Given the description of an element on the screen output the (x, y) to click on. 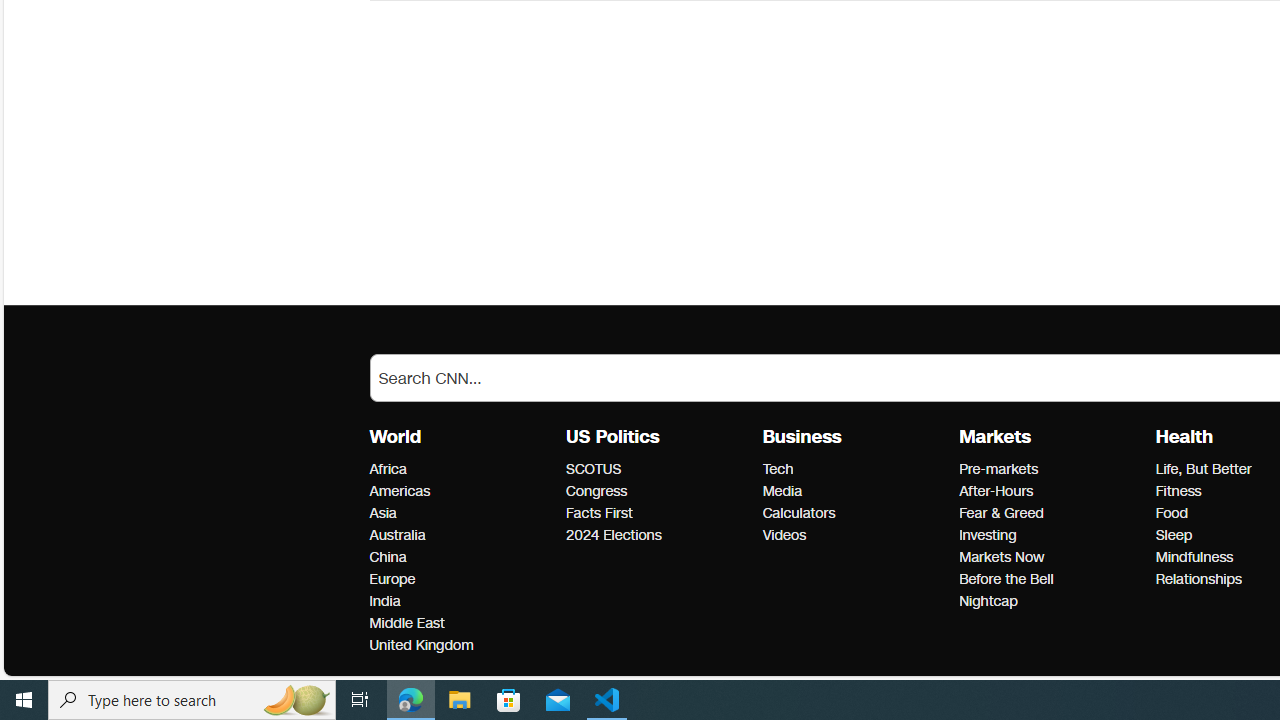
Business Media (781, 491)
Before the Bell (1051, 579)
Markets Now (1051, 557)
